Given the description of an element on the screen output the (x, y) to click on. 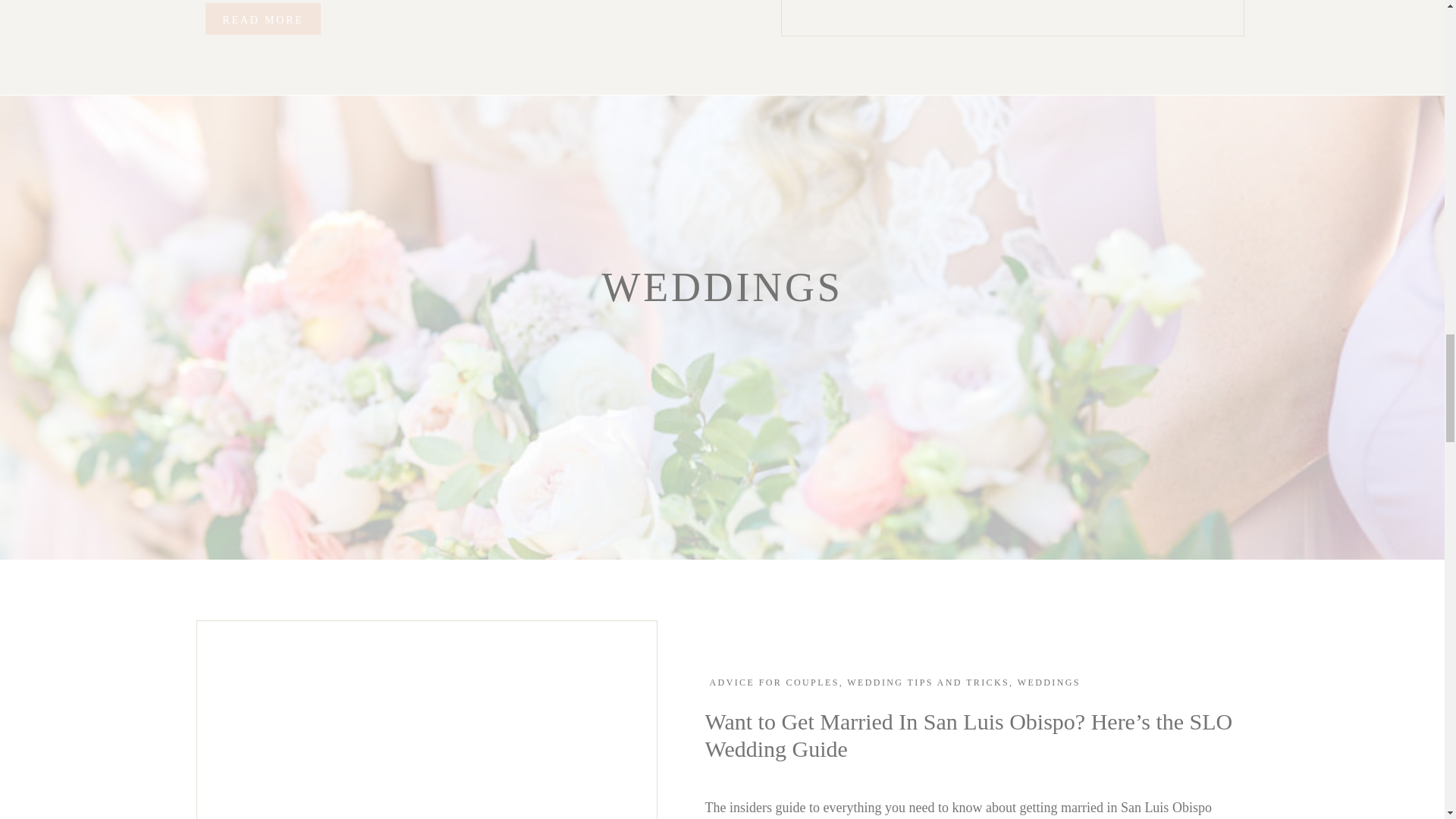
WEDDING TIPS AND TRICKS (928, 682)
READ MORE (262, 18)
WEDDINGS (1048, 682)
ADVICE FOR COUPLES (775, 682)
